Given the description of an element on the screen output the (x, y) to click on. 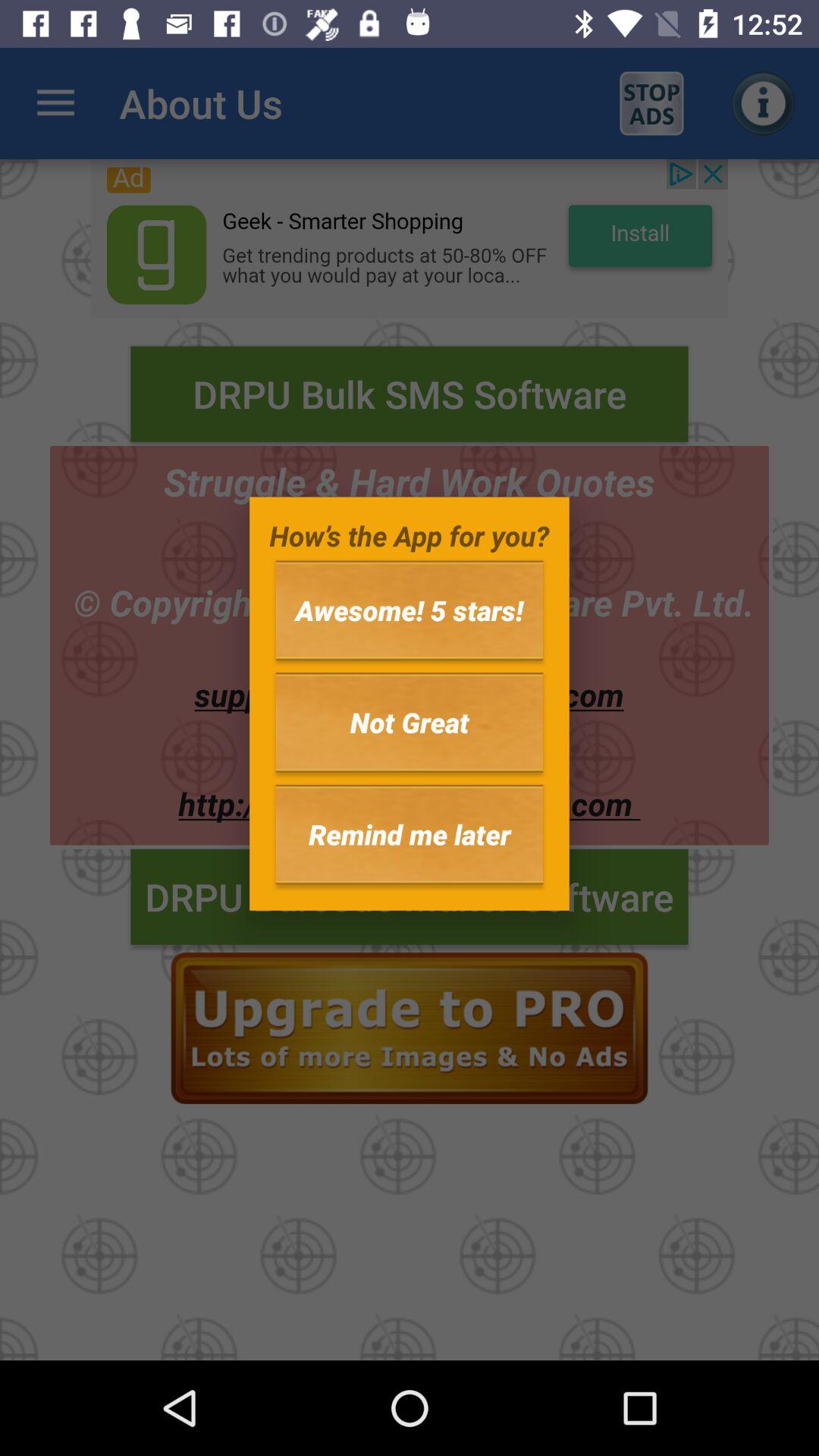
swipe to not great item (409, 722)
